Given the description of an element on the screen output the (x, y) to click on. 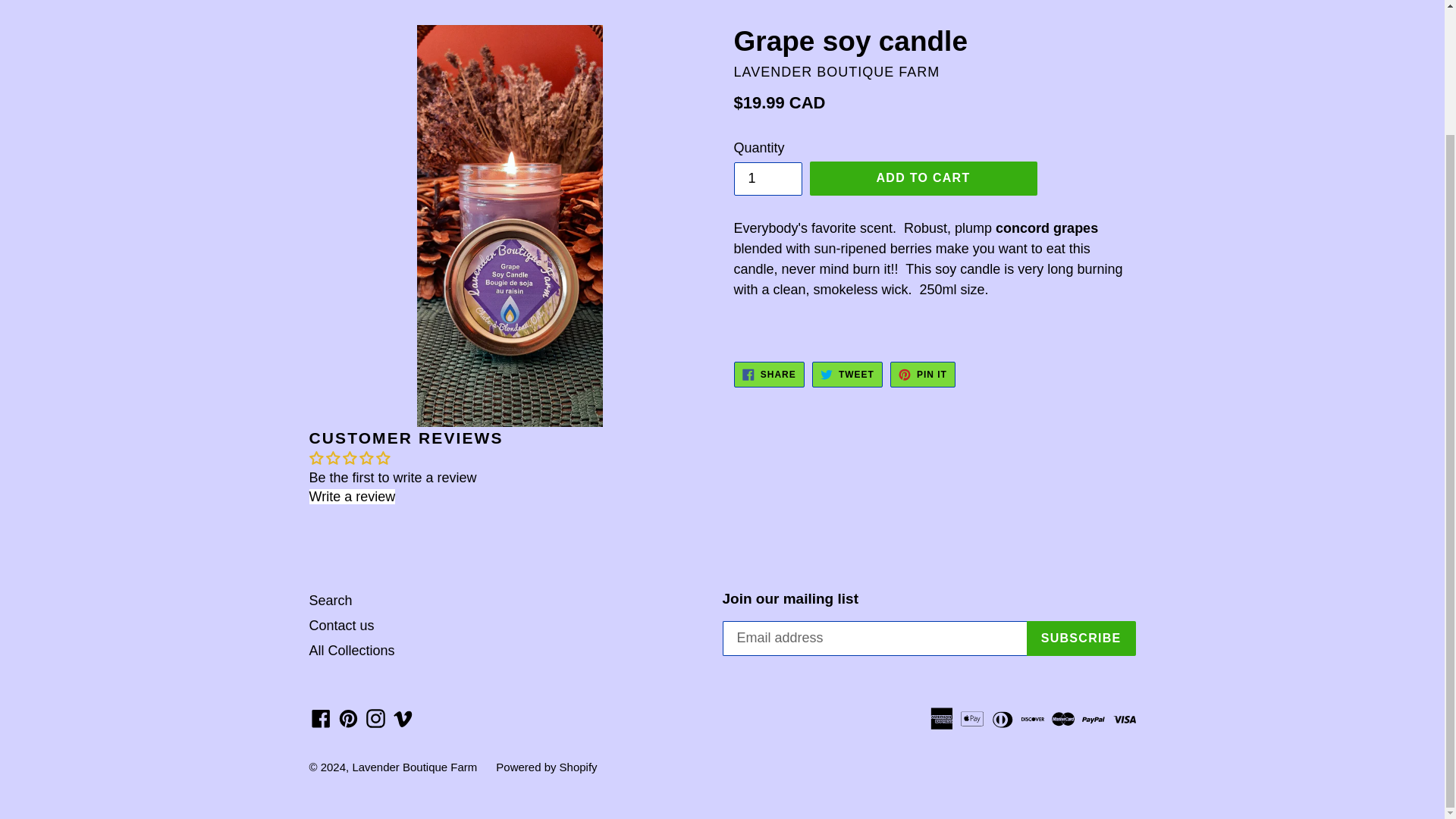
Lavender Boutique Farm on Pinterest (347, 717)
Lavender Boutique Farm on Vimeo (402, 717)
Lavender Boutique Farm on Facebook (320, 717)
1 (767, 178)
Lavender Boutique Farm on Instagram (375, 717)
Tweet on Twitter (847, 374)
Pin on Pinterest (922, 374)
Share on Facebook (769, 374)
